Given the description of an element on the screen output the (x, y) to click on. 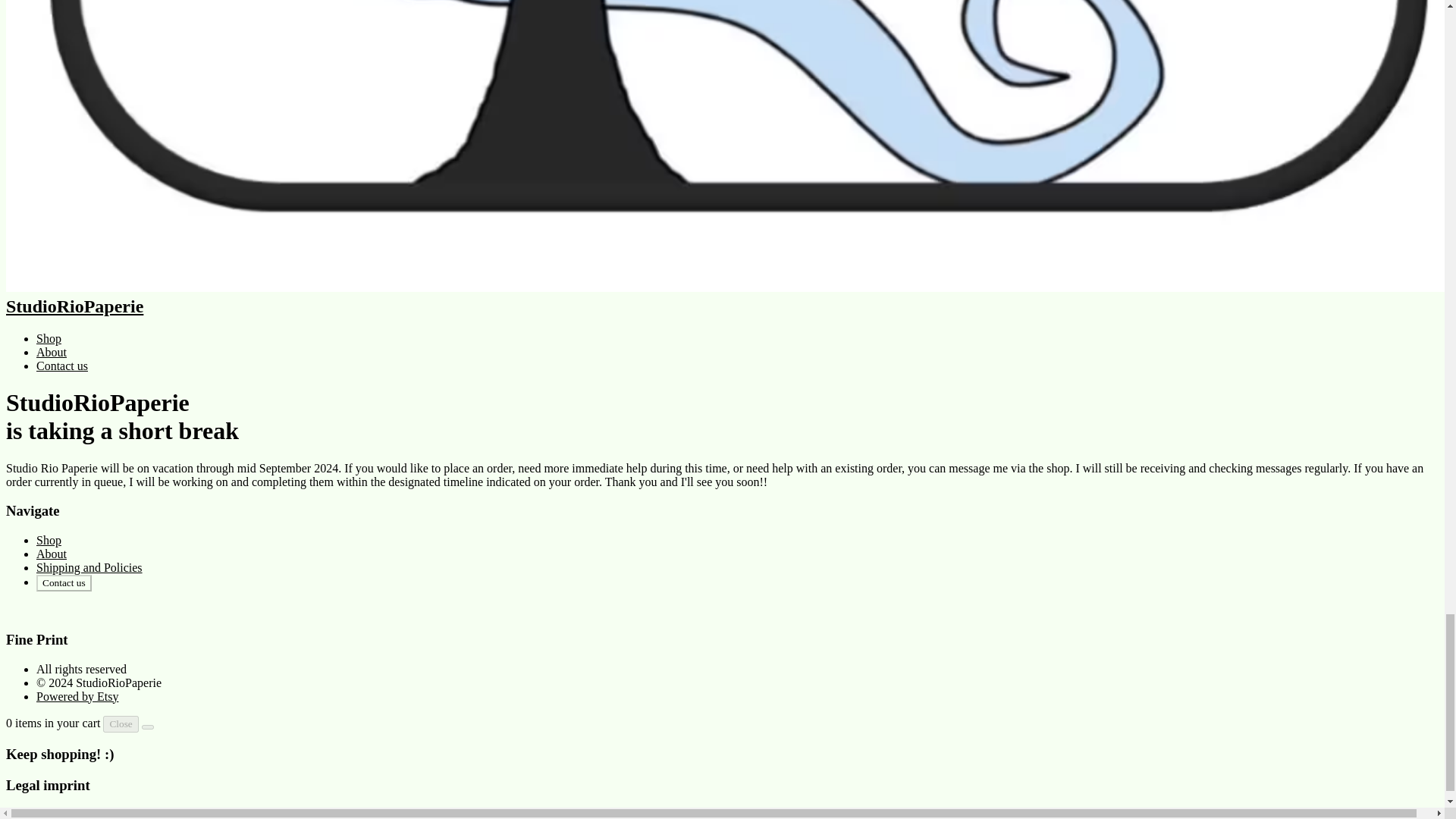
Powered by Etsy (76, 696)
Contact us (63, 582)
Close (120, 723)
Shipping and Policies (89, 567)
Shop (48, 338)
Contact us (61, 365)
About (51, 553)
About (51, 351)
Shop (48, 540)
